Given the description of an element on the screen output the (x, y) to click on. 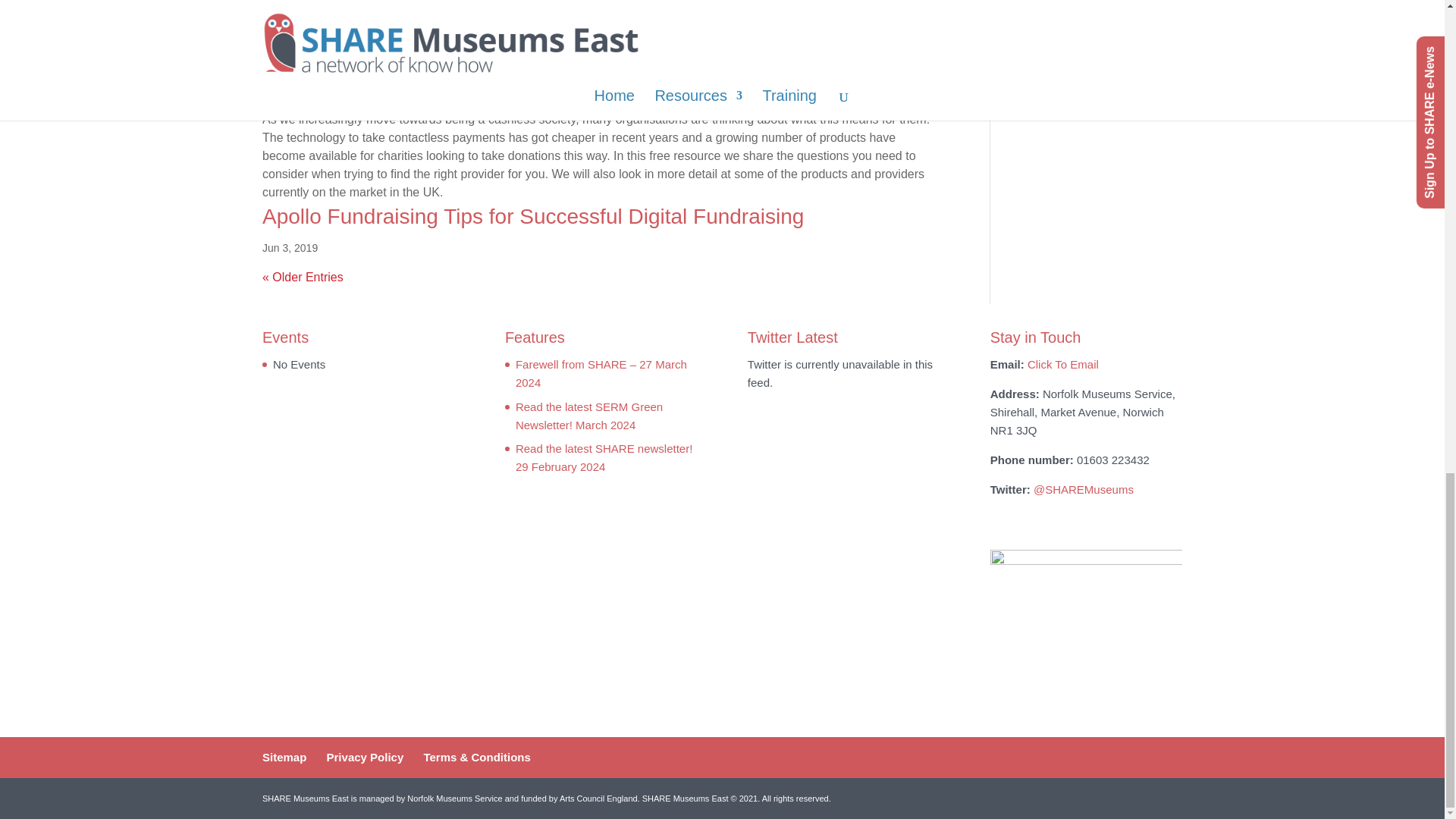
Apollo Fundraising Tips for Successful Digital Fundraising (532, 216)
Click To Email (1063, 364)
Privacy Policy (365, 757)
Sitemap (283, 757)
Read the latest SHARE newsletter! 29 February 2024 (604, 457)
Read the latest SERM Green Newsletter! March 2024 (588, 415)
